Given the description of an element on the screen output the (x, y) to click on. 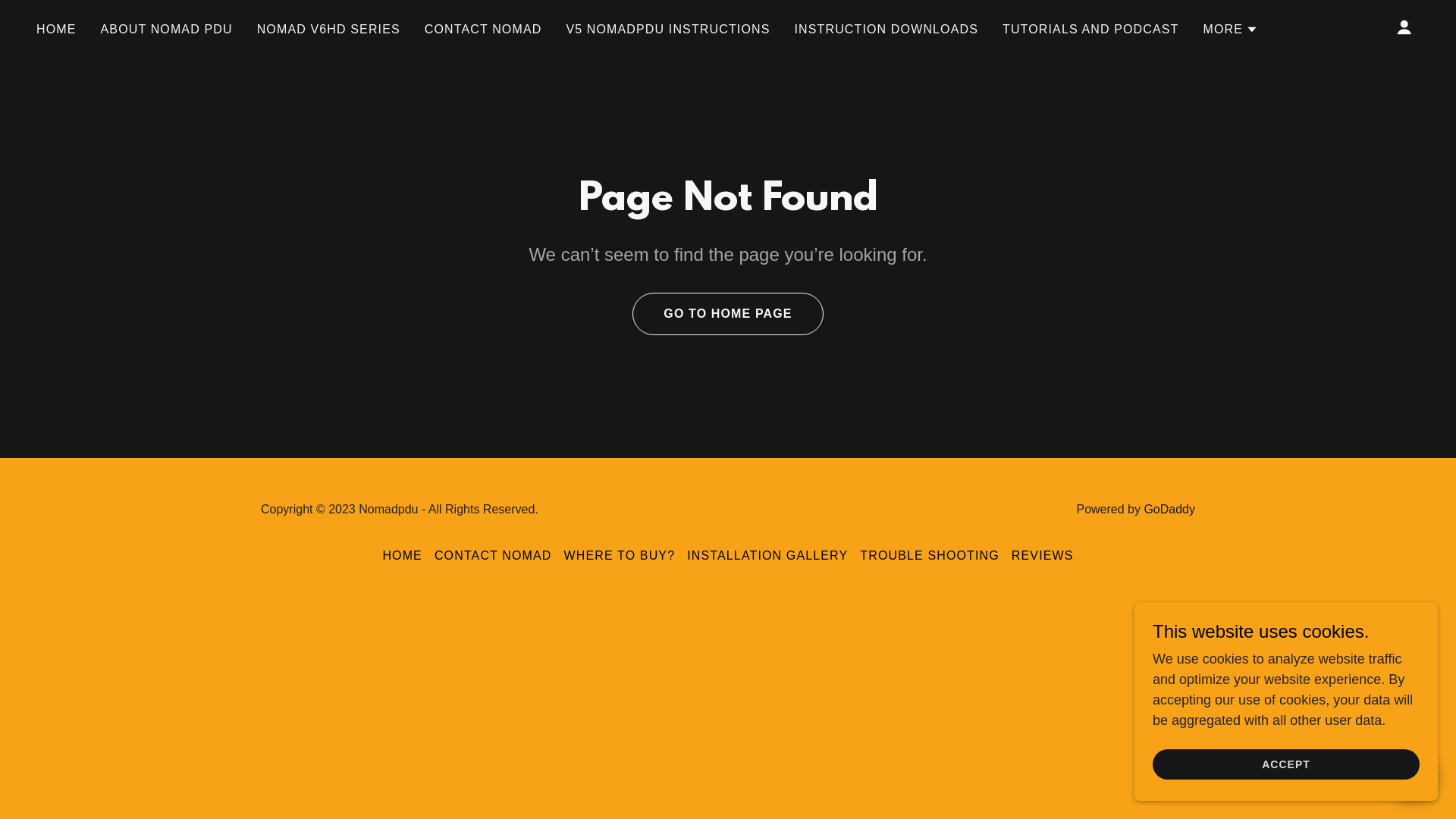
V5 NOMADPDU INSTRUCTIONS Element type: text (667, 28)
CONTACT NOMAD Element type: text (483, 28)
GoDaddy Element type: text (1169, 508)
NOMAD V6HD SERIES Element type: text (328, 28)
ACCEPT Element type: text (1285, 764)
TROUBLE SHOOTING Element type: text (929, 555)
HOME Element type: text (402, 555)
WHERE TO BUY? Element type: text (619, 555)
INSTRUCTION DOWNLOADS Element type: text (885, 28)
HOME Element type: text (56, 28)
REVIEWS Element type: text (1042, 555)
GO TO HOME PAGE Element type: text (727, 313)
INSTALLATION GALLERY Element type: text (766, 555)
CONTACT NOMAD Element type: text (493, 555)
MORE Element type: text (1230, 28)
TUTORIALS AND PODCAST Element type: text (1090, 28)
ABOUT NOMAD PDU Element type: text (166, 28)
